Given the description of an element on the screen output the (x, y) to click on. 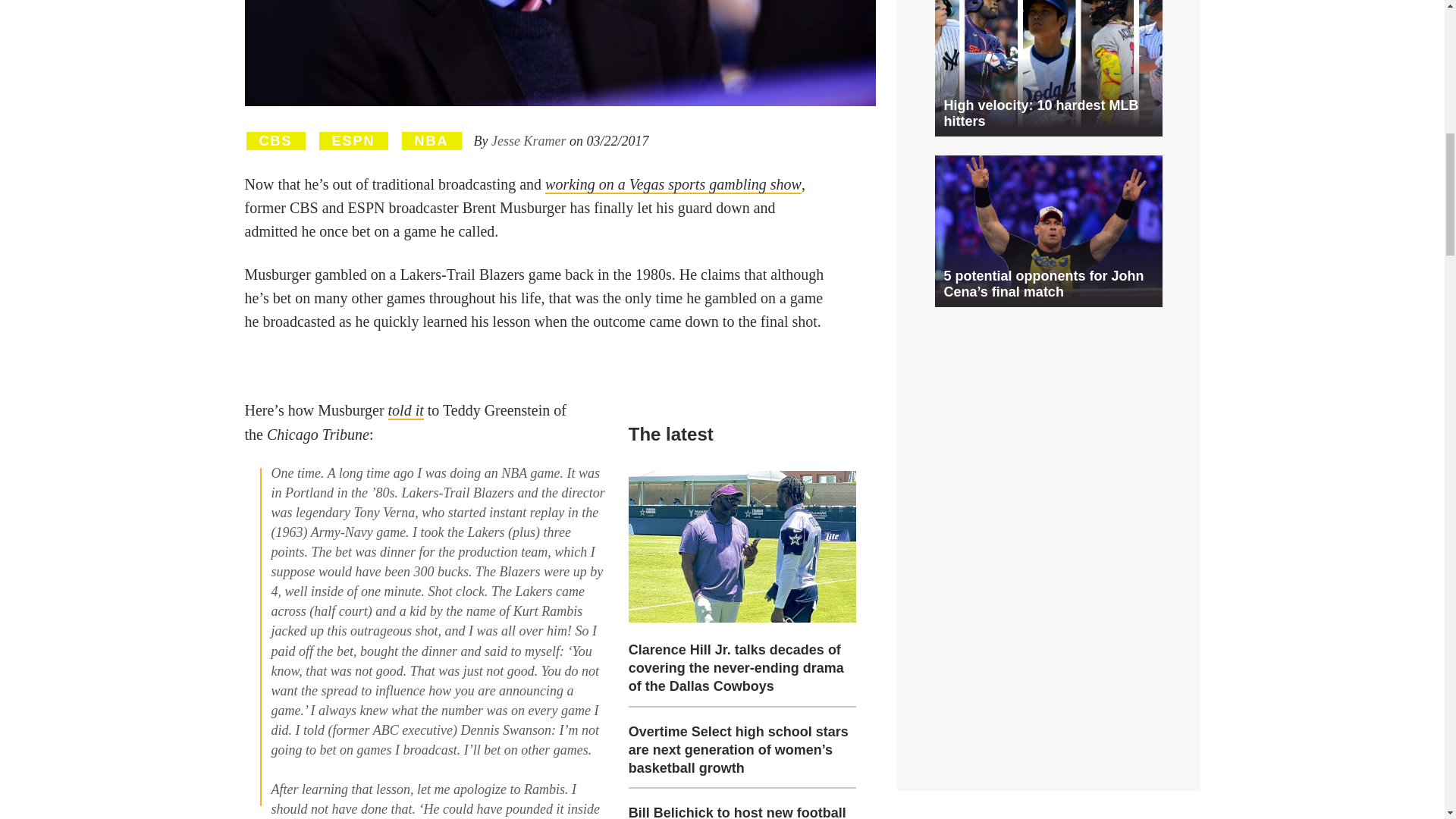
View all posts in NBA (431, 140)
View all posts in CBS (275, 140)
View all posts in ESPN (353, 140)
